Given the description of an element on the screen output the (x, y) to click on. 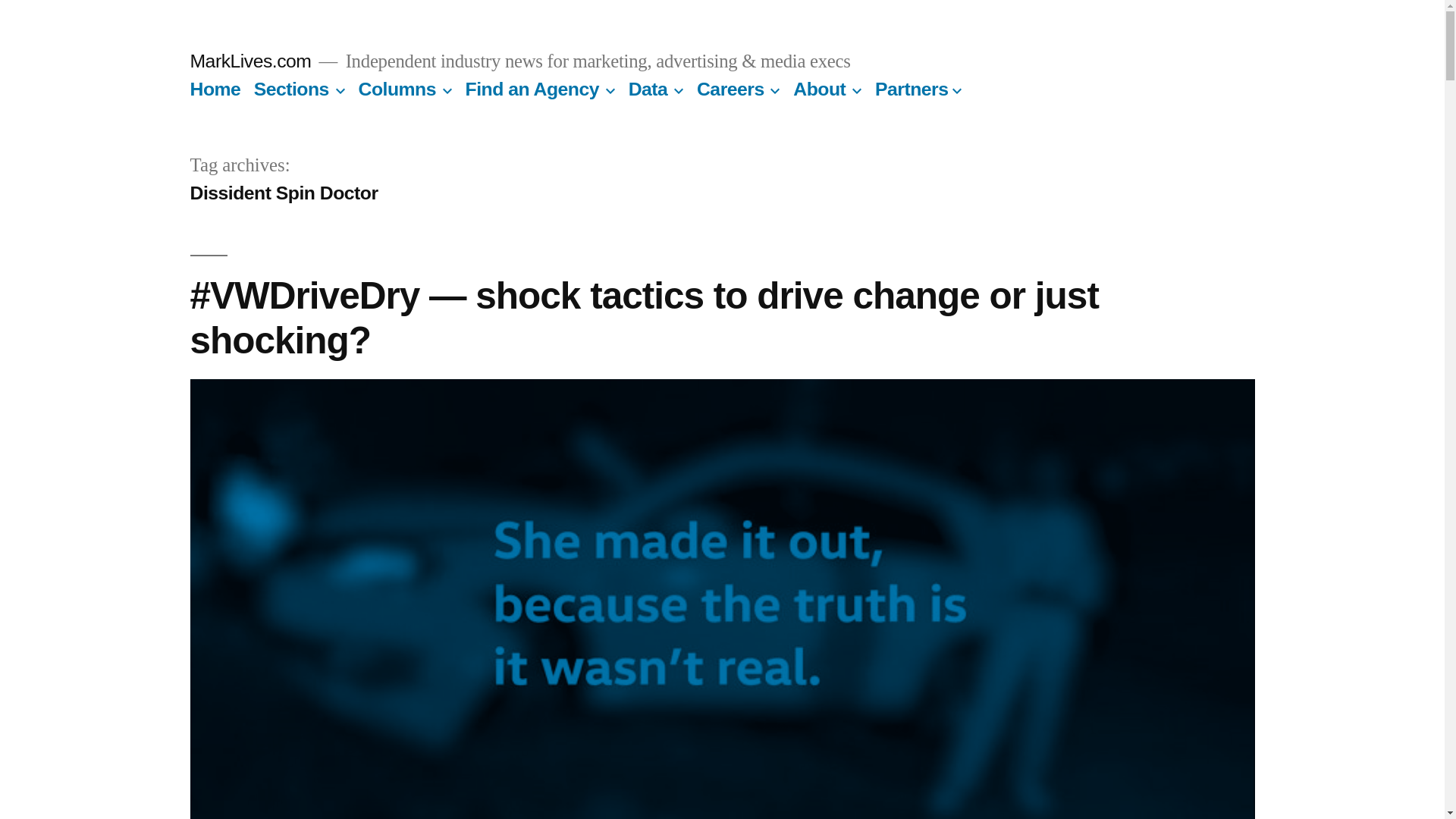
Home (214, 88)
Columns (396, 88)
Sections (291, 88)
MarkLives.com (250, 60)
